Given the description of an element on the screen output the (x, y) to click on. 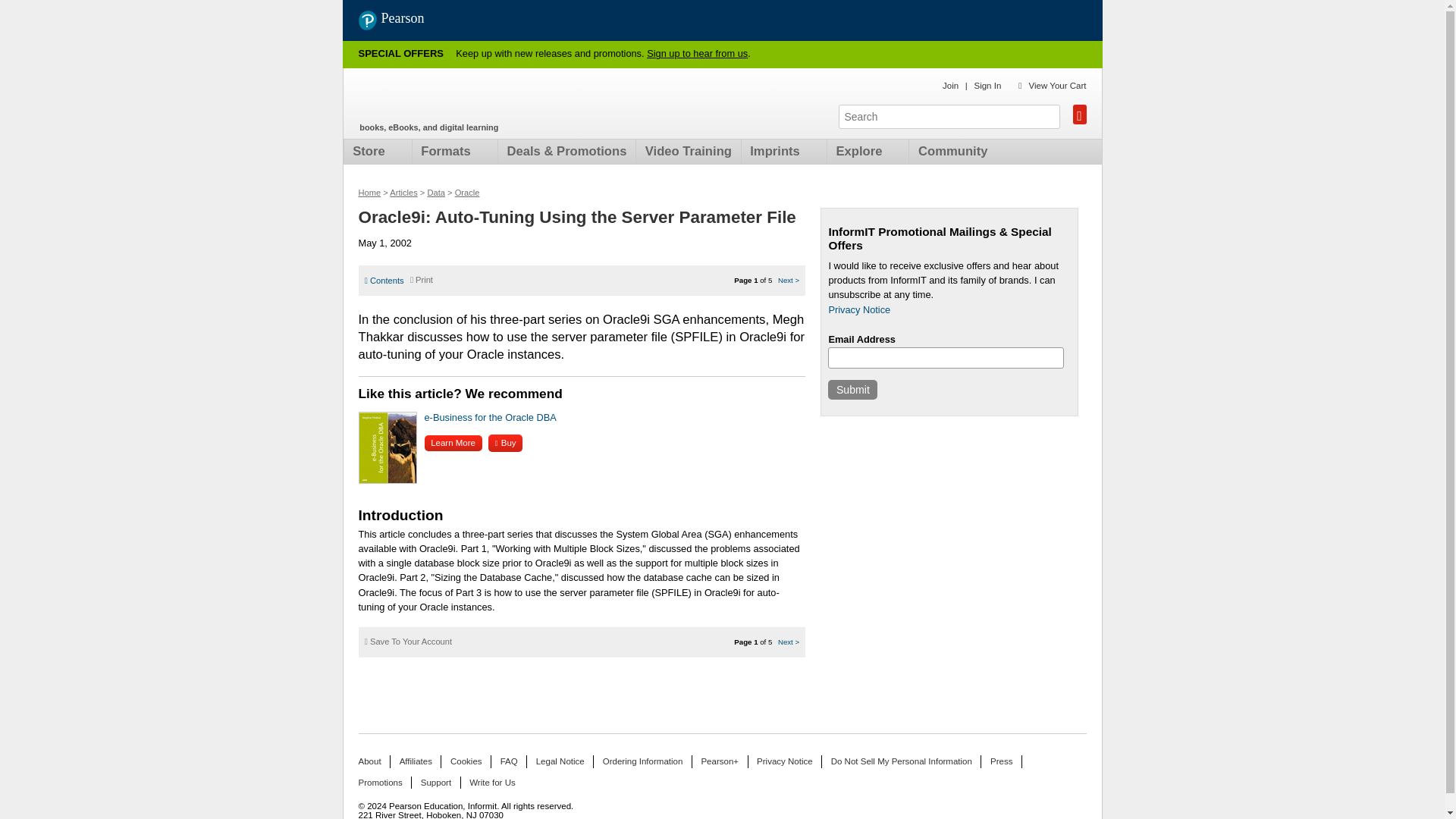
Join (950, 85)
Store (372, 151)
Sign up to hear from us (697, 52)
Articles (403, 192)
Home (446, 98)
Learn More (453, 442)
Oracle (467, 192)
Data (435, 192)
Privacy Notice (858, 309)
e-Business for the Oracle DBA (490, 417)
Submit (852, 389)
Print (421, 279)
Sign In (987, 85)
View Your Cart (1057, 85)
Home (369, 192)
